Given the description of an element on the screen output the (x, y) to click on. 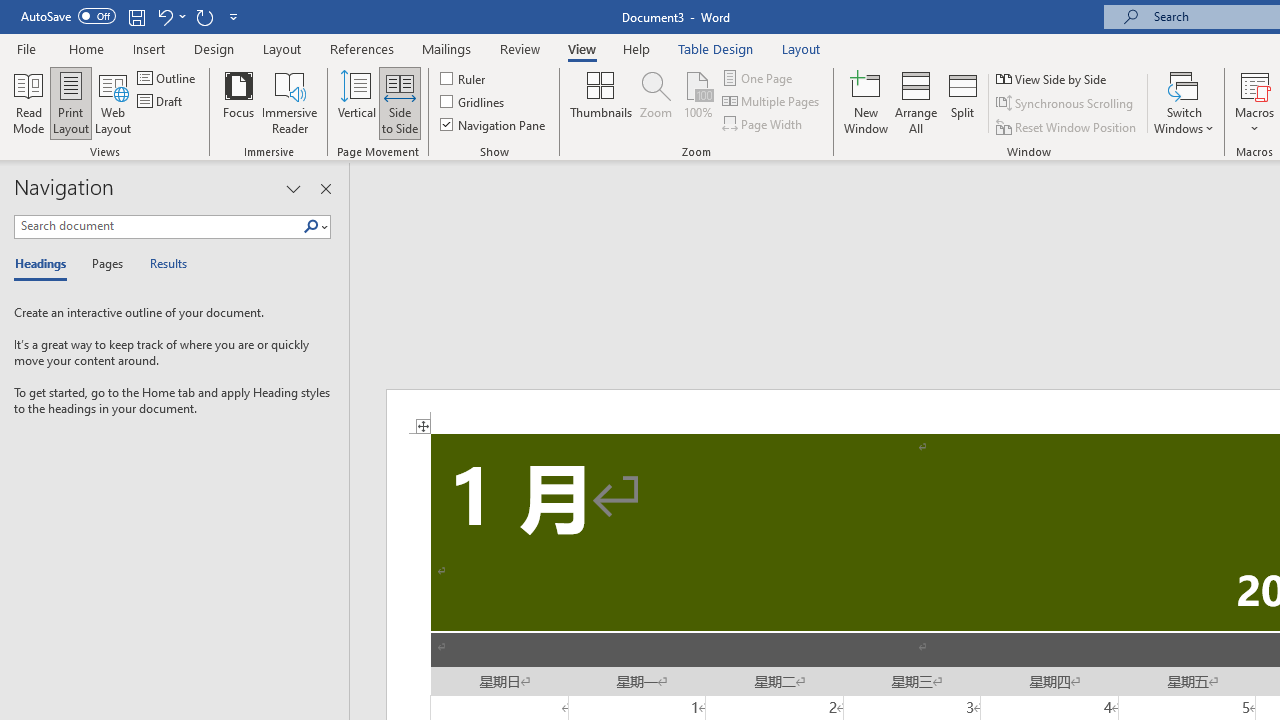
Page Width (763, 124)
Immersive Reader (289, 102)
Macros (1254, 102)
Split (963, 102)
View Side by Side (1053, 78)
100% (698, 102)
Zoom... (655, 102)
